Given the description of an element on the screen output the (x, y) to click on. 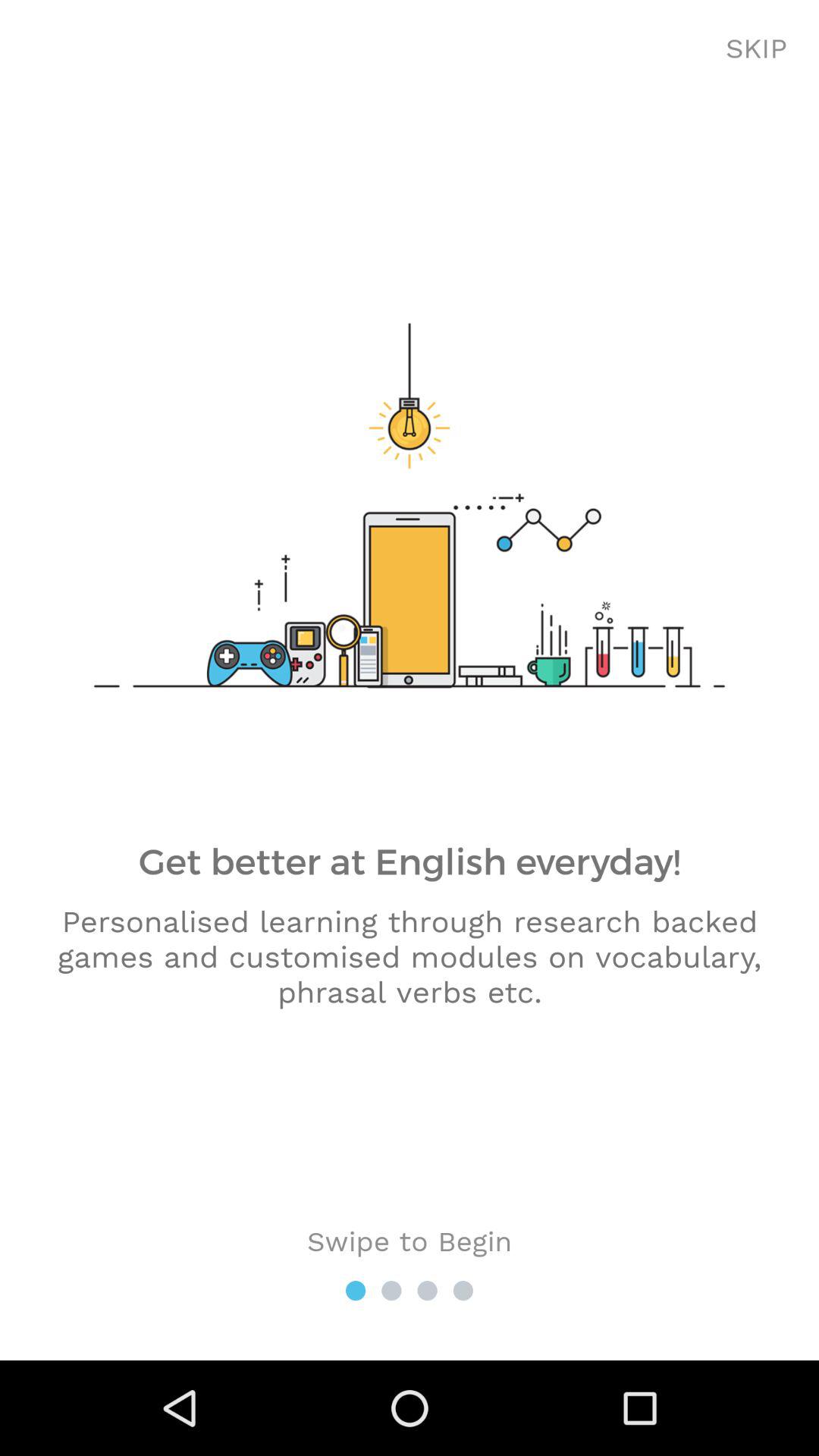
scroll until the skip item (756, 49)
